Given the description of an element on the screen output the (x, y) to click on. 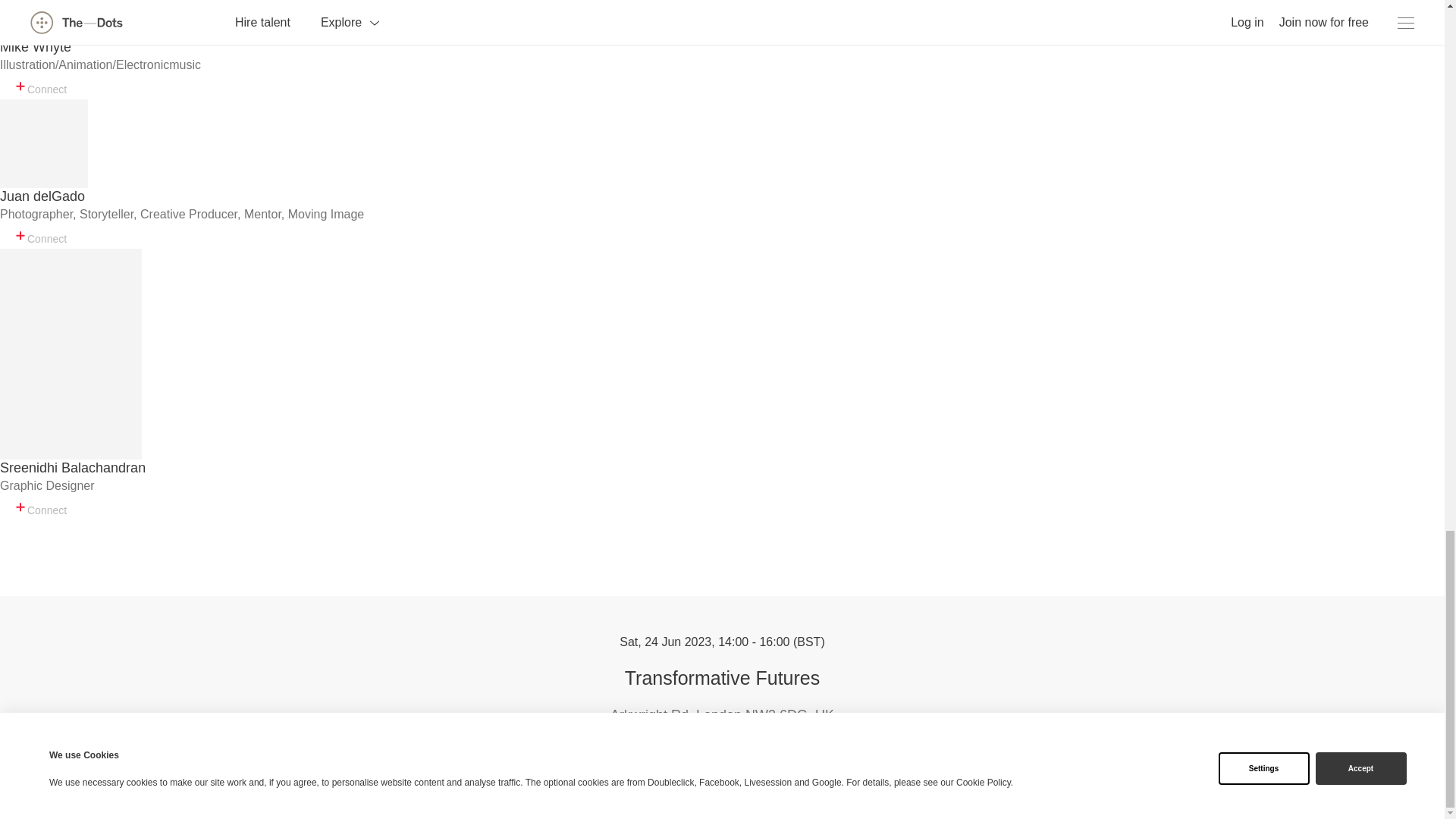
Juan delGado (42, 197)
Connect (40, 86)
Connect (40, 235)
Sreenidhi Balachandran (72, 468)
Mike Whyte (35, 47)
